Given the description of an element on the screen output the (x, y) to click on. 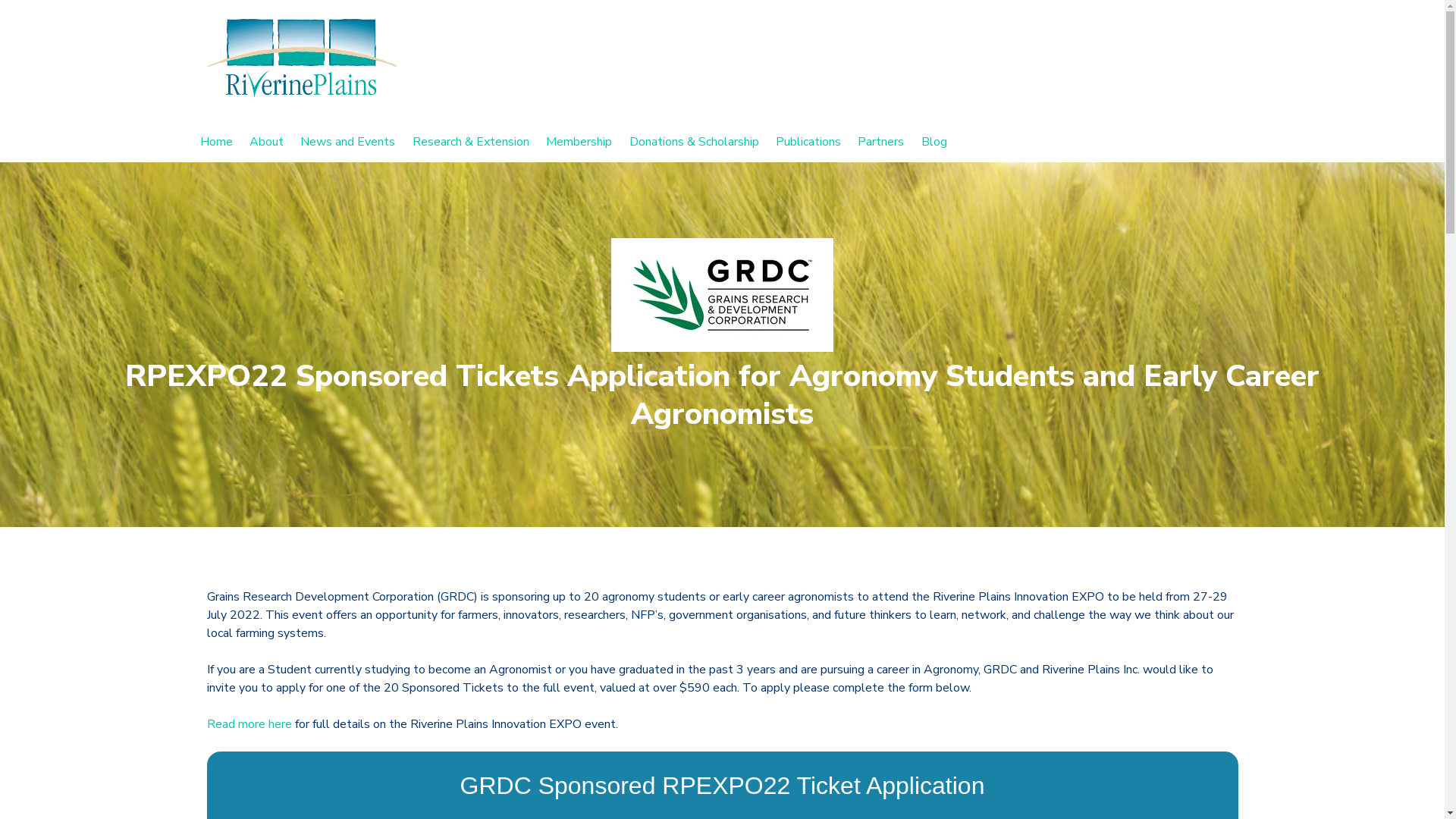
GRDC_Logo_Primary_Default_RGB (3) Element type: hover (722, 294)
News and Events Element type: text (347, 141)
Donations & Scholarship Element type: text (694, 141)
Riverine Plains High Res Logo-1 Element type: hover (300, 57)
About Element type: text (266, 141)
Research & Extension Element type: text (470, 141)
Read more here Element type: text (250, 723)
Membership Element type: text (578, 141)
Partners Element type: text (880, 141)
Publications Element type: text (807, 141)
Home Element type: text (216, 141)
Blog Element type: text (934, 141)
